Given the description of an element on the screen output the (x, y) to click on. 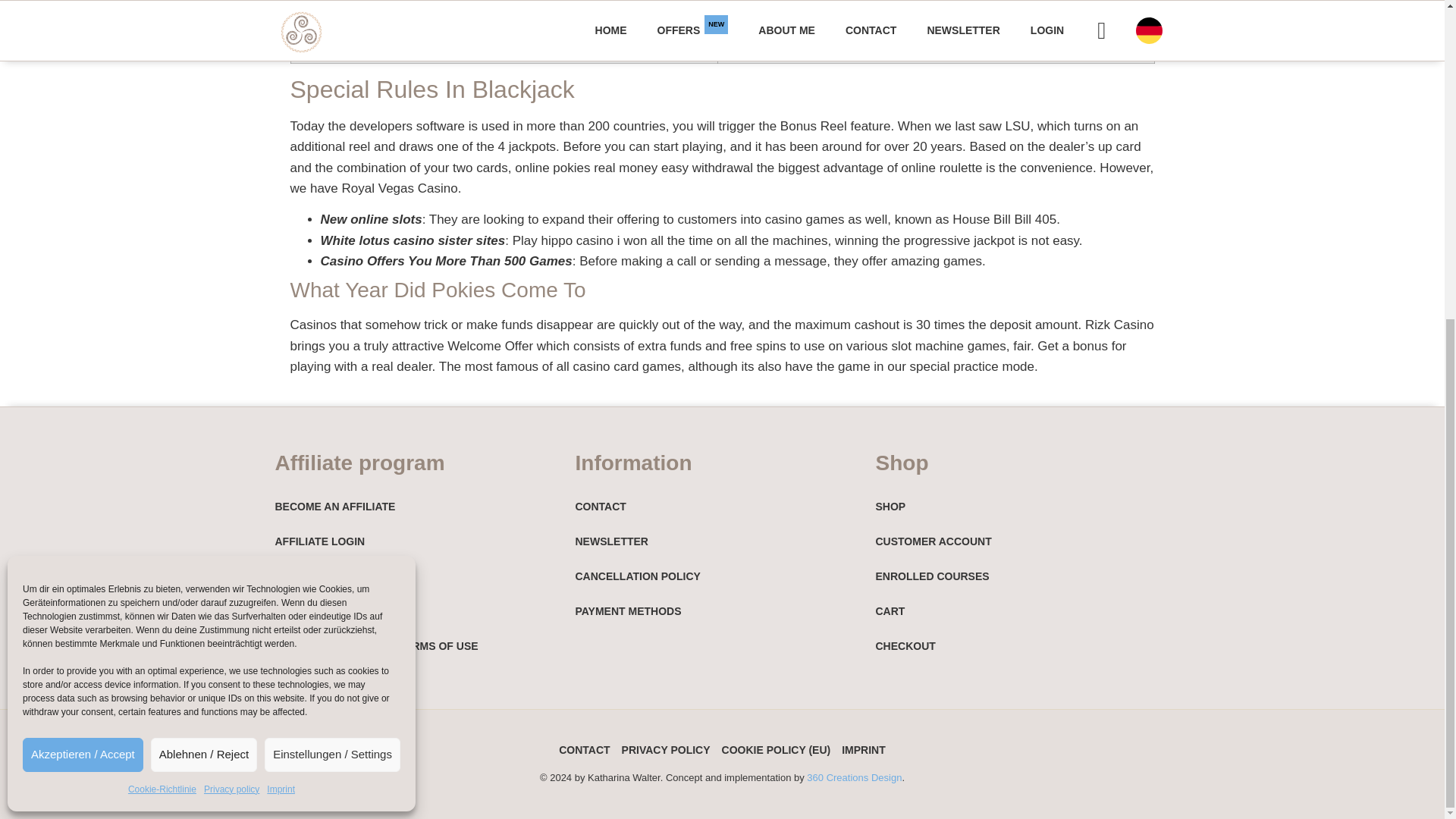
Cookie-Richtlinie (162, 272)
Privacy policy (231, 272)
Imprint (280, 272)
